Given the description of an element on the screen output the (x, y) to click on. 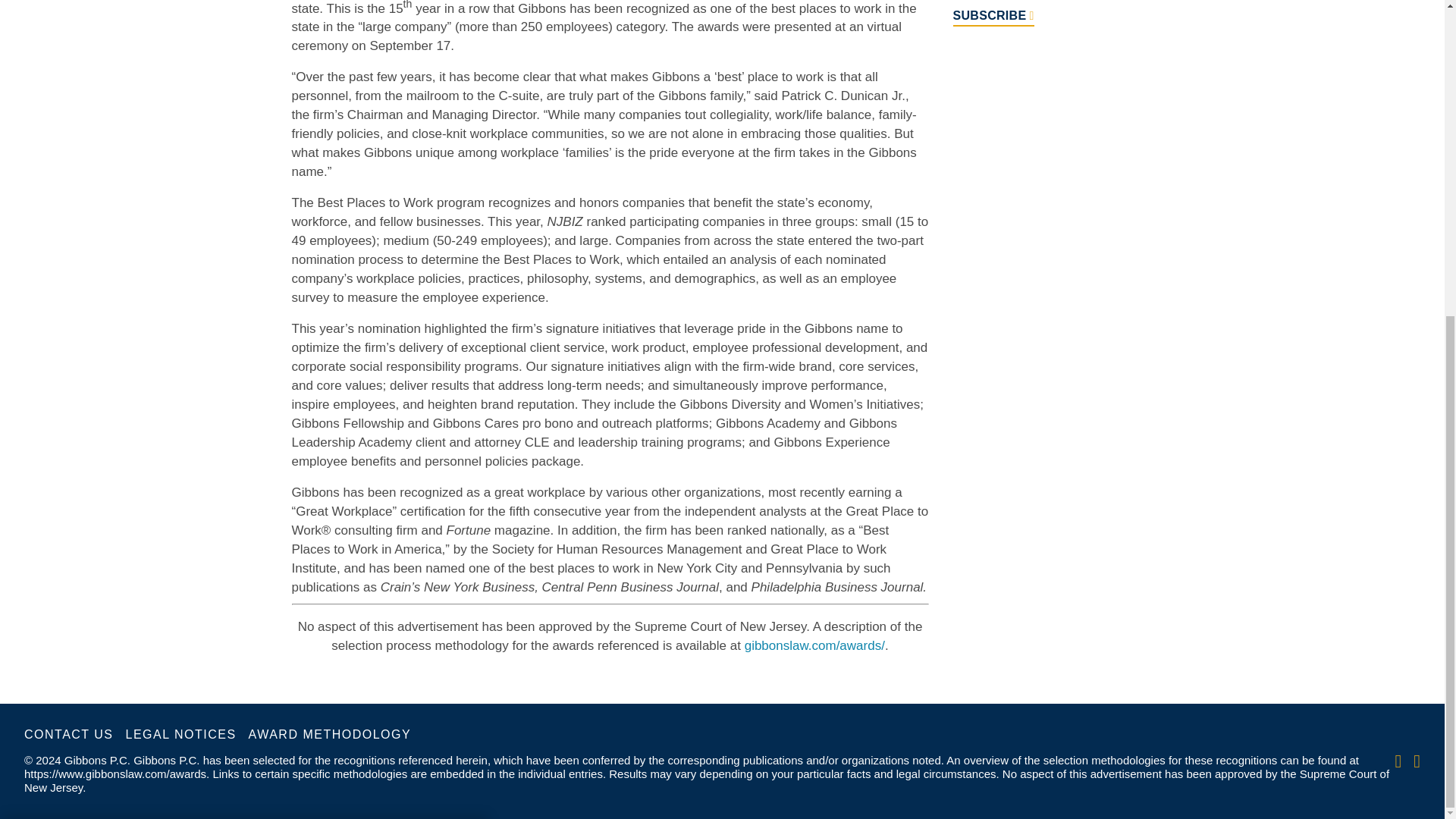
AWARD METHODOLOGY (330, 732)
Cookie Policy (222, 419)
CONTACT US (68, 732)
ACCEPT (435, 342)
LEGAL NOTICES (180, 732)
Privacy Policy (329, 419)
Stay Connected (1058, 22)
